Given the description of an element on the screen output the (x, y) to click on. 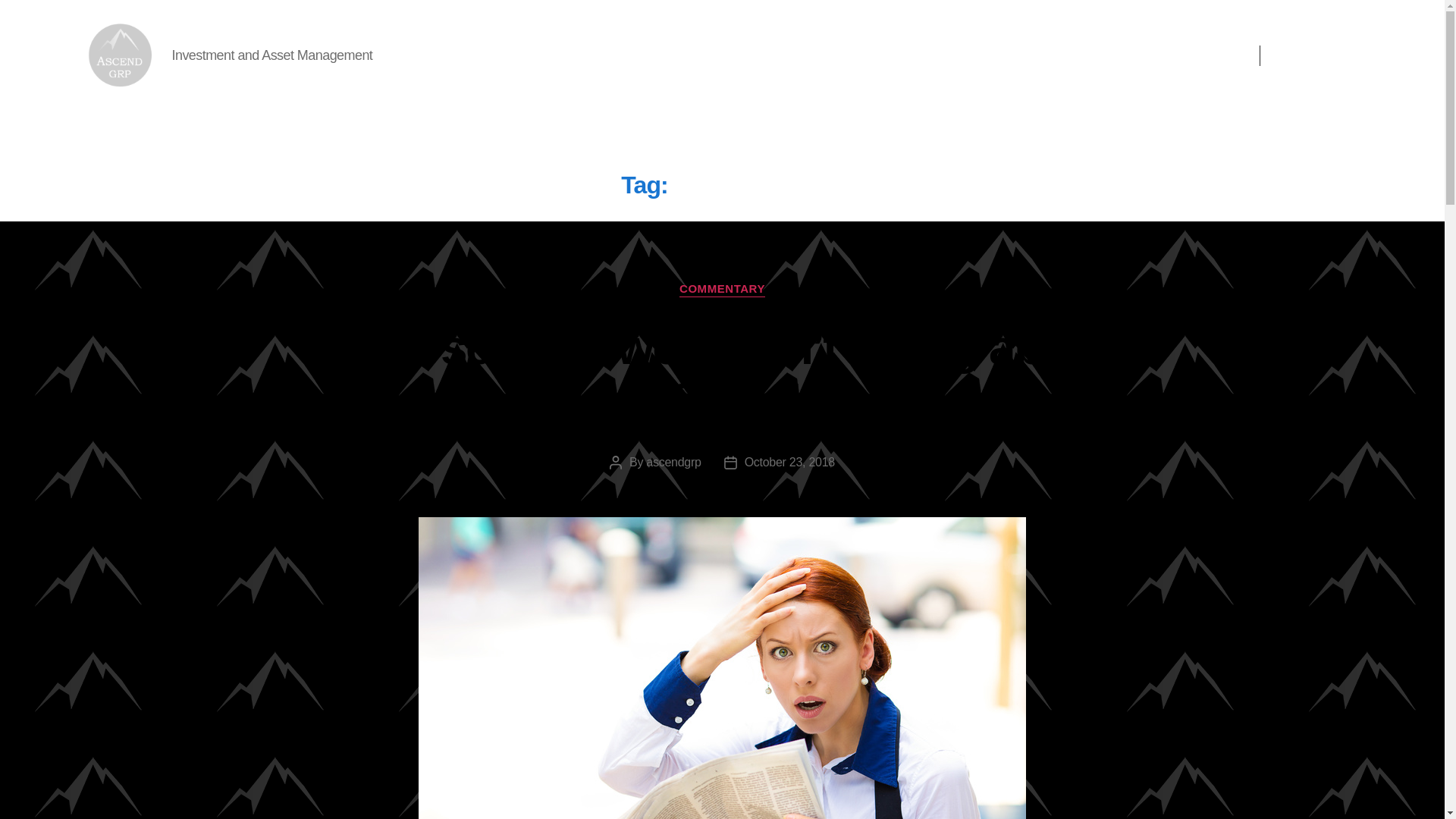
Search (1324, 55)
Menu (1197, 55)
